Given the description of an element on the screen output the (x, y) to click on. 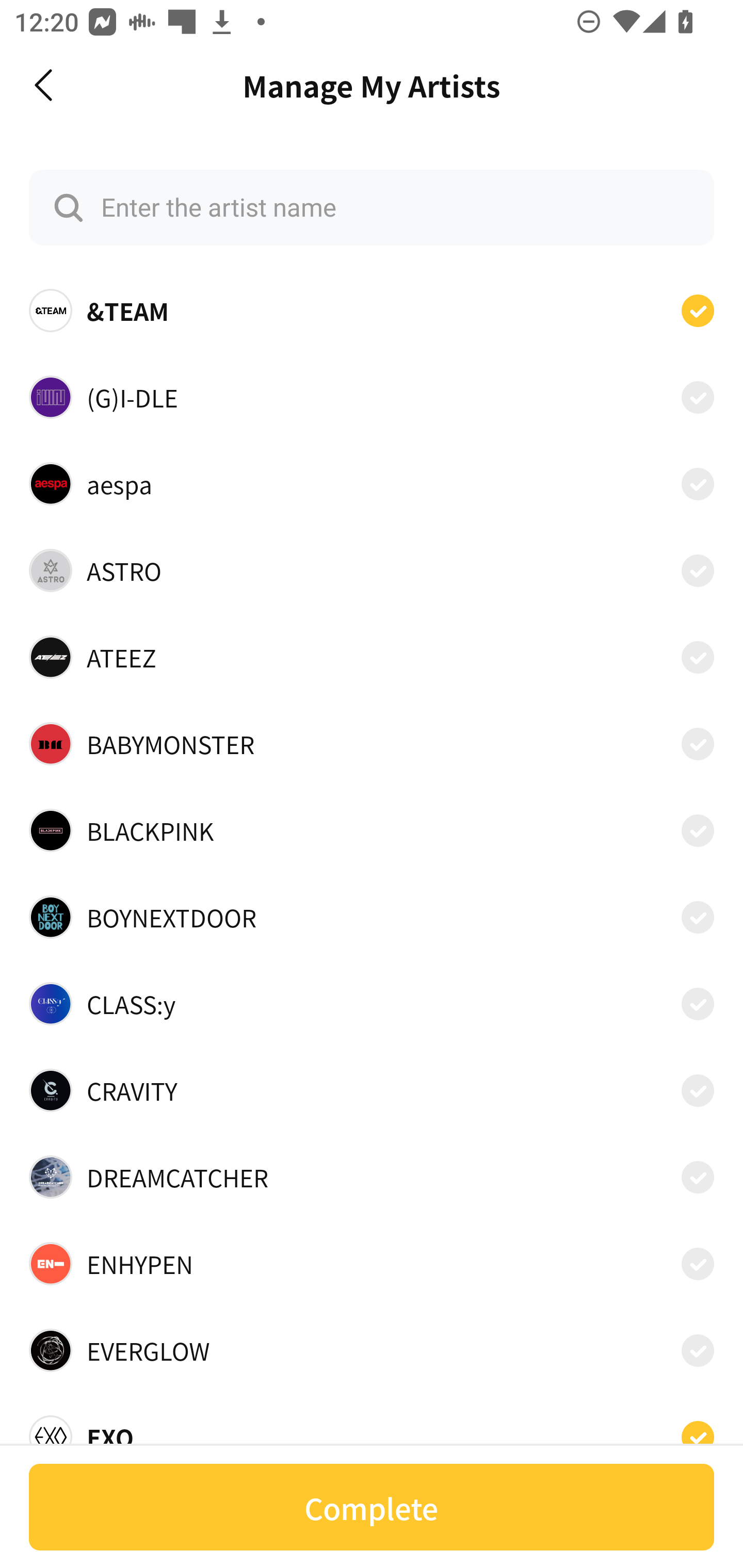
Enter the artist name (371, 207)
&TEAM (371, 310)
(G)I-DLE (371, 396)
aespa (371, 483)
ASTRO (371, 570)
ATEEZ (371, 656)
BABYMONSTER (371, 743)
BLACKPINK (371, 830)
BOYNEXTDOOR (371, 917)
CLASS:y (371, 1003)
CRAVITY (371, 1090)
DREAMCATCHER (371, 1176)
ENHYPEN (371, 1263)
EVERGLOW (371, 1350)
EXO (371, 1430)
Complete (371, 1507)
